Given the description of an element on the screen output the (x, y) to click on. 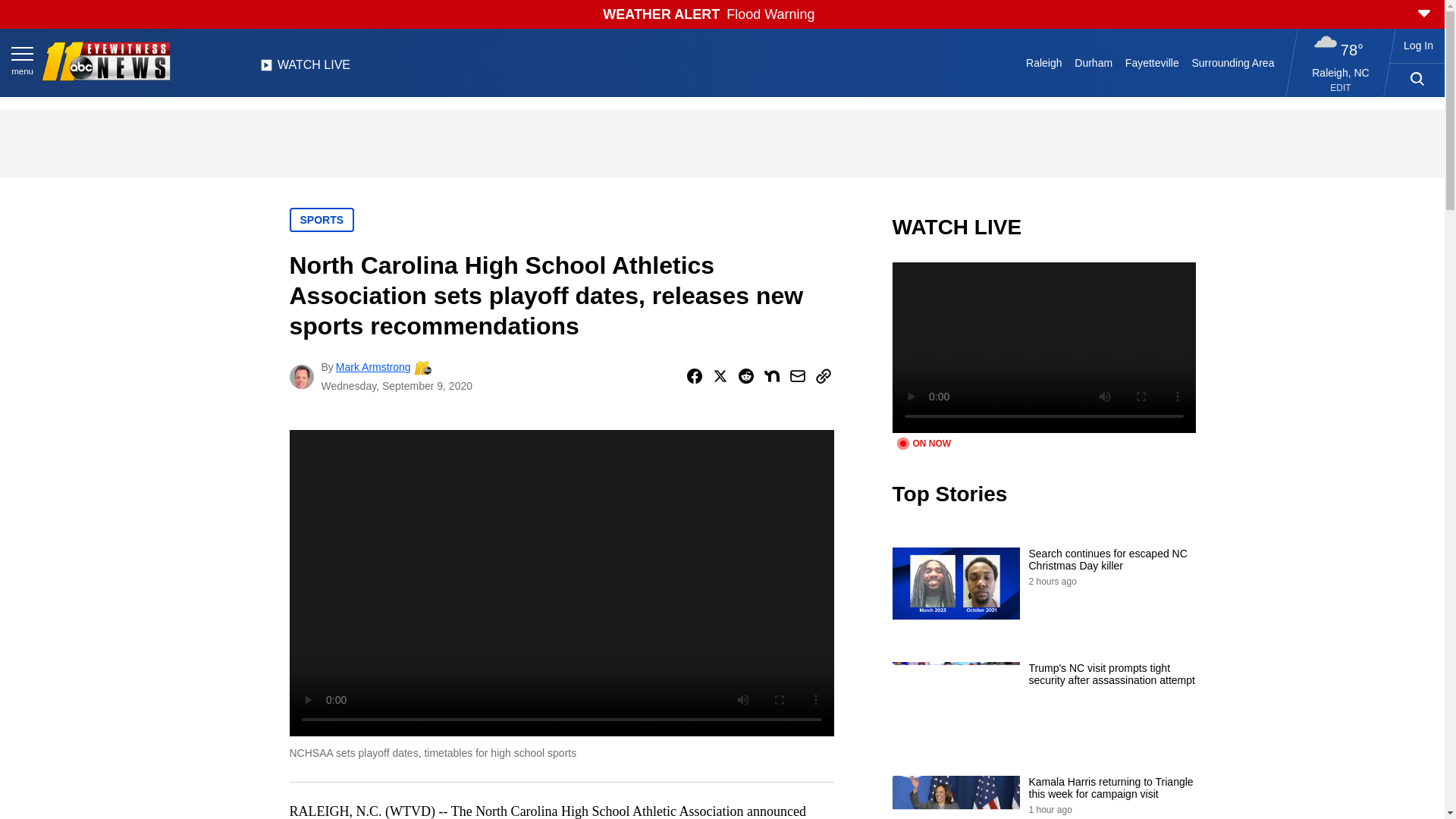
Durham (1093, 62)
Fayetteville (1151, 62)
EDIT (1340, 87)
Raleigh (1044, 62)
WATCH LIVE (305, 69)
video.title (1043, 347)
Surrounding Area (1233, 62)
Raleigh, NC (1340, 72)
